Given the description of an element on the screen output the (x, y) to click on. 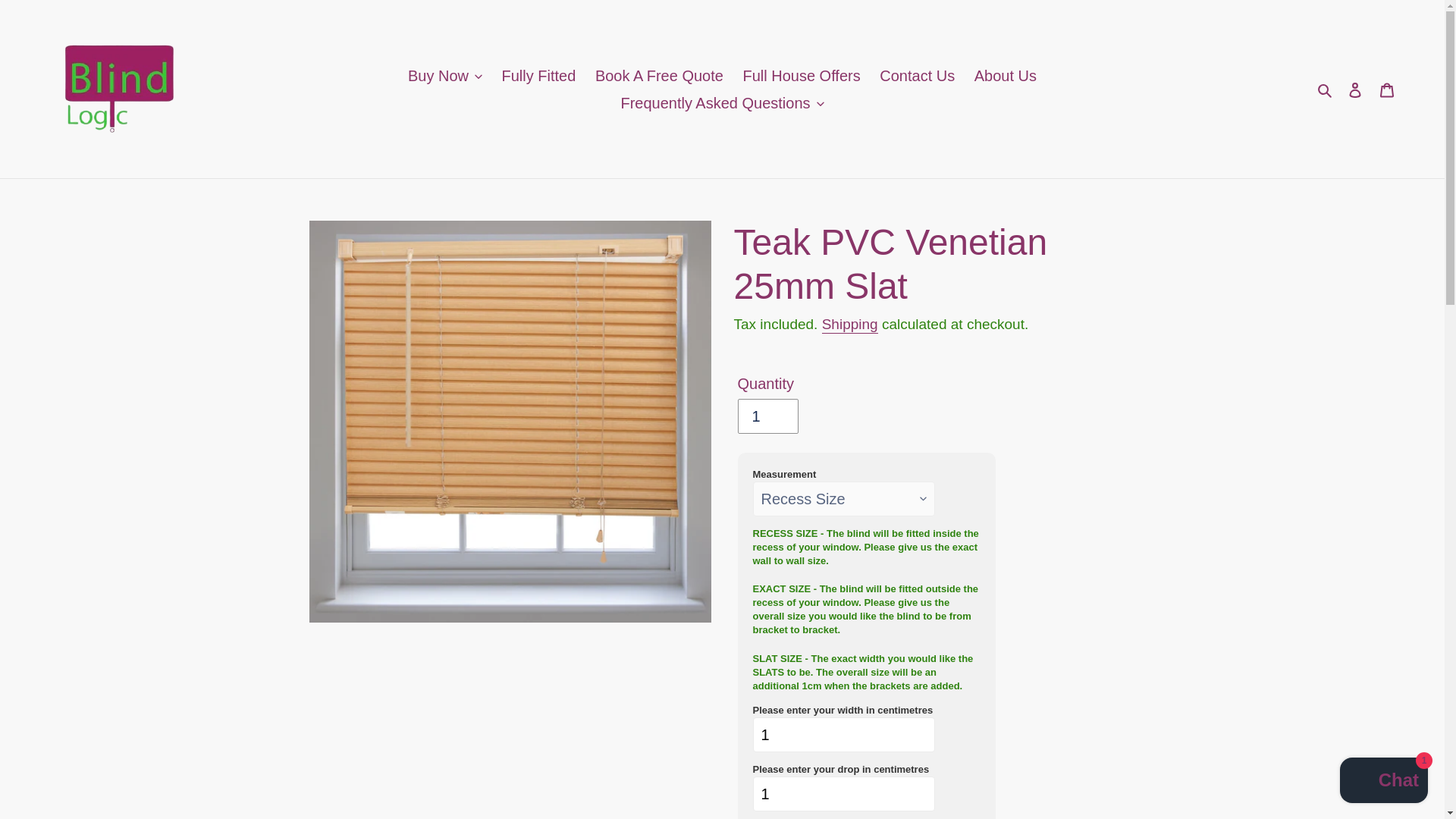
1 (843, 734)
1 (843, 793)
Contact Us (917, 75)
Fully Fitted (539, 75)
Search (1326, 88)
Shipping (849, 324)
Book A Free Quote (659, 75)
About Us (1004, 75)
1 (766, 416)
Buy Now (444, 75)
Full House Offers (801, 75)
Shopify online store chat (1383, 781)
Frequently Asked Questions (721, 103)
